Given the description of an element on the screen output the (x, y) to click on. 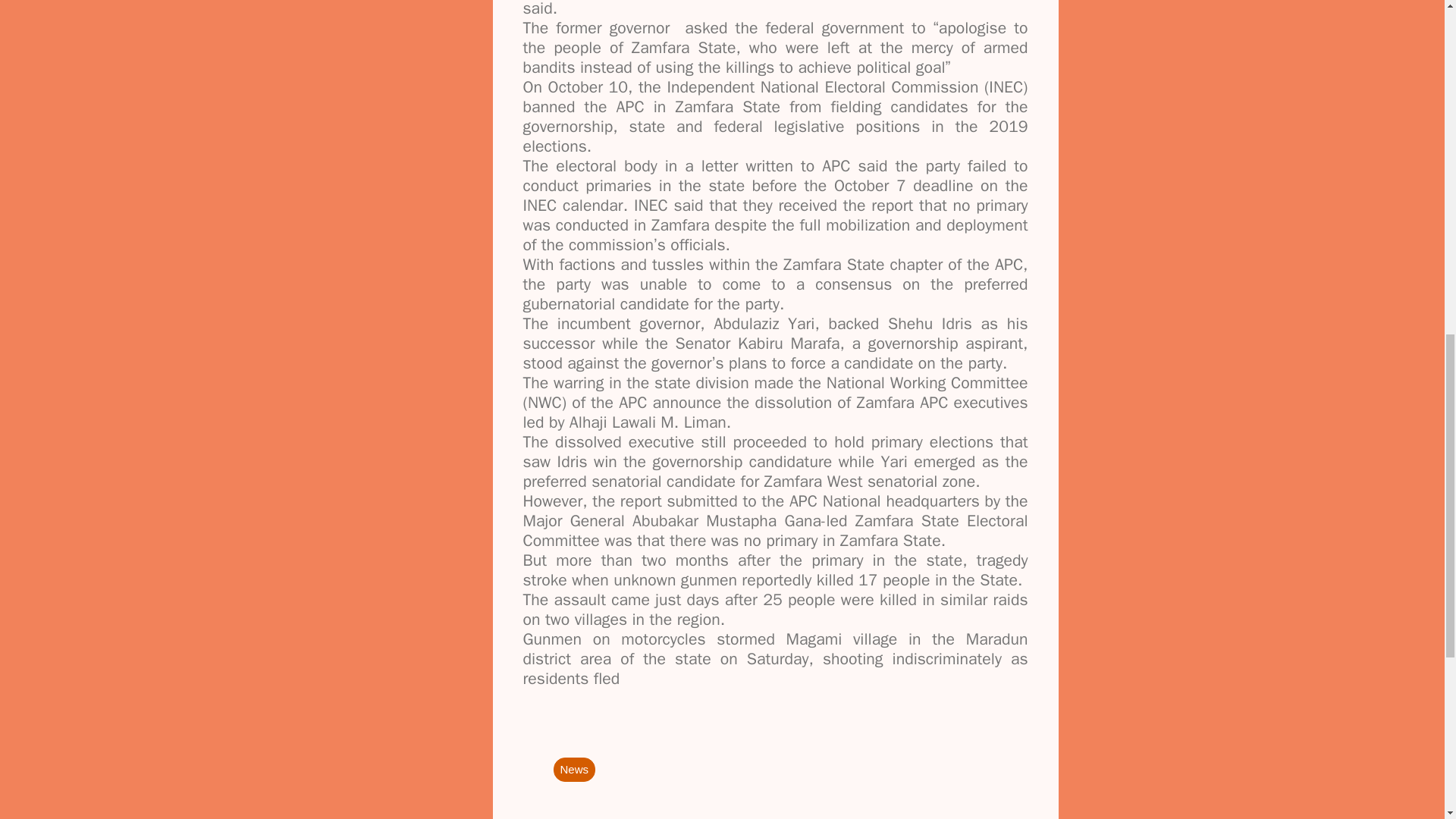
News (574, 768)
